Given the description of an element on the screen output the (x, y) to click on. 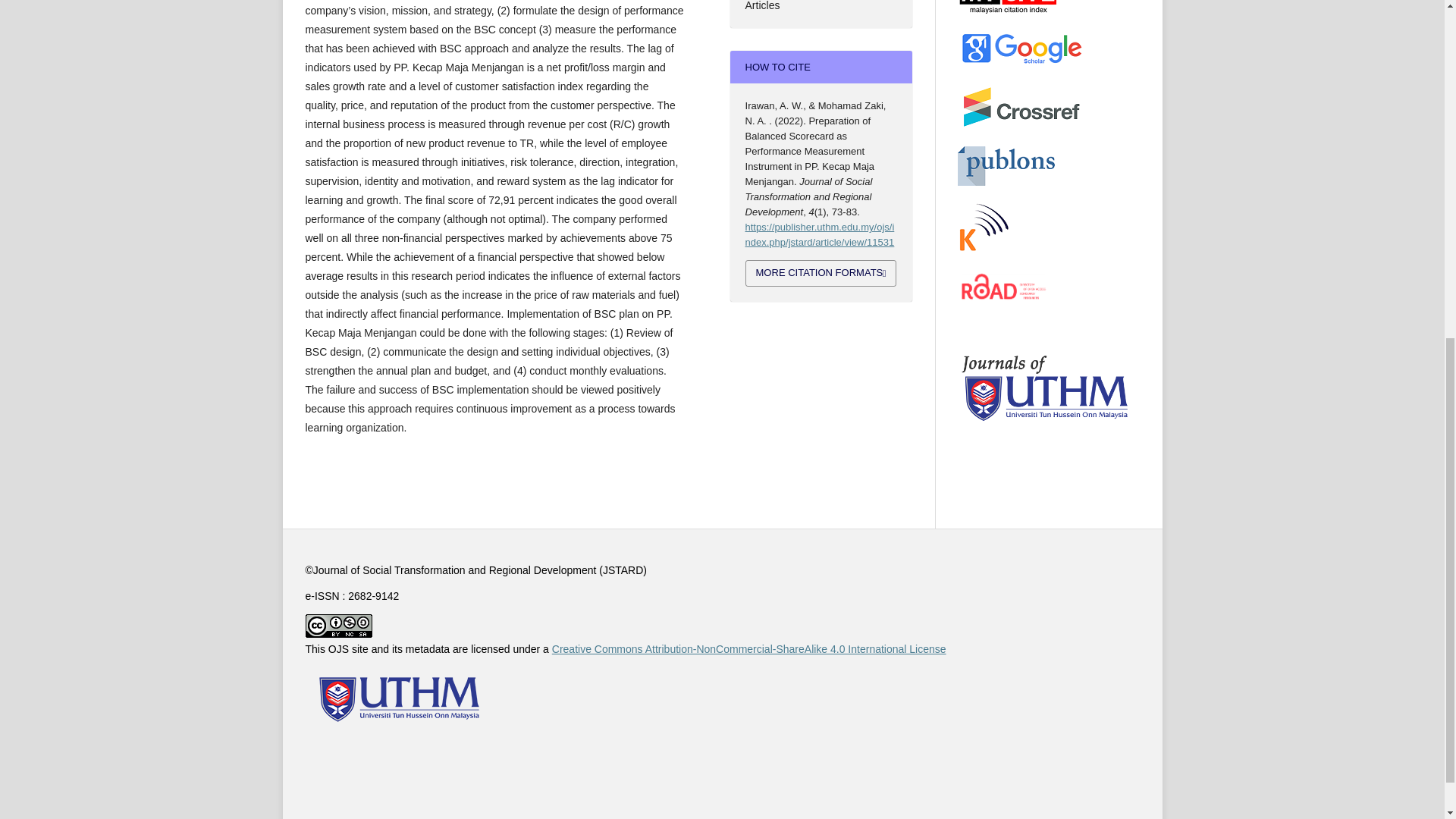
MORE CITATION FORMATS (820, 273)
